Given the description of an element on the screen output the (x, y) to click on. 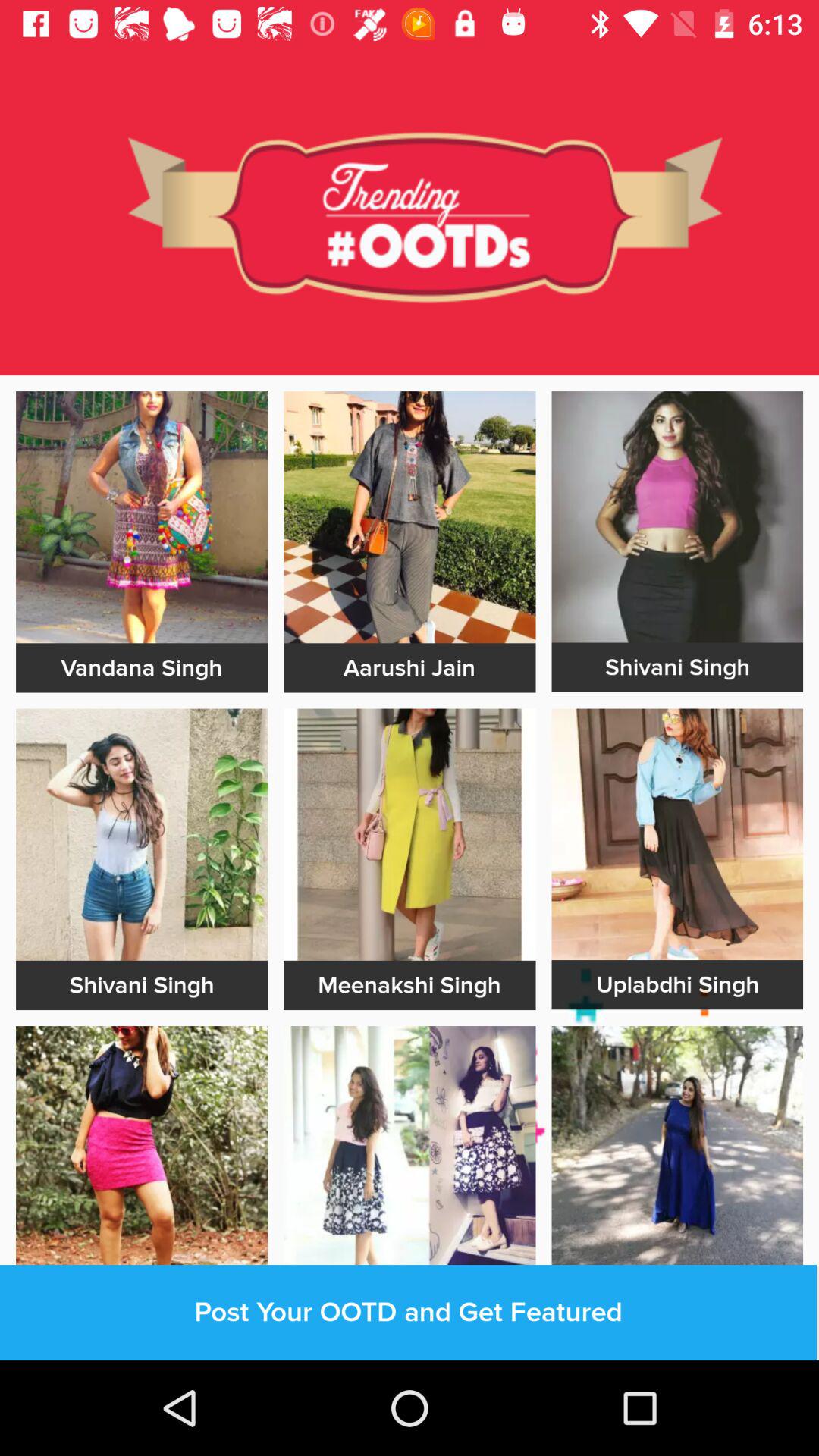
see profile (677, 516)
